Given the description of an element on the screen output the (x, y) to click on. 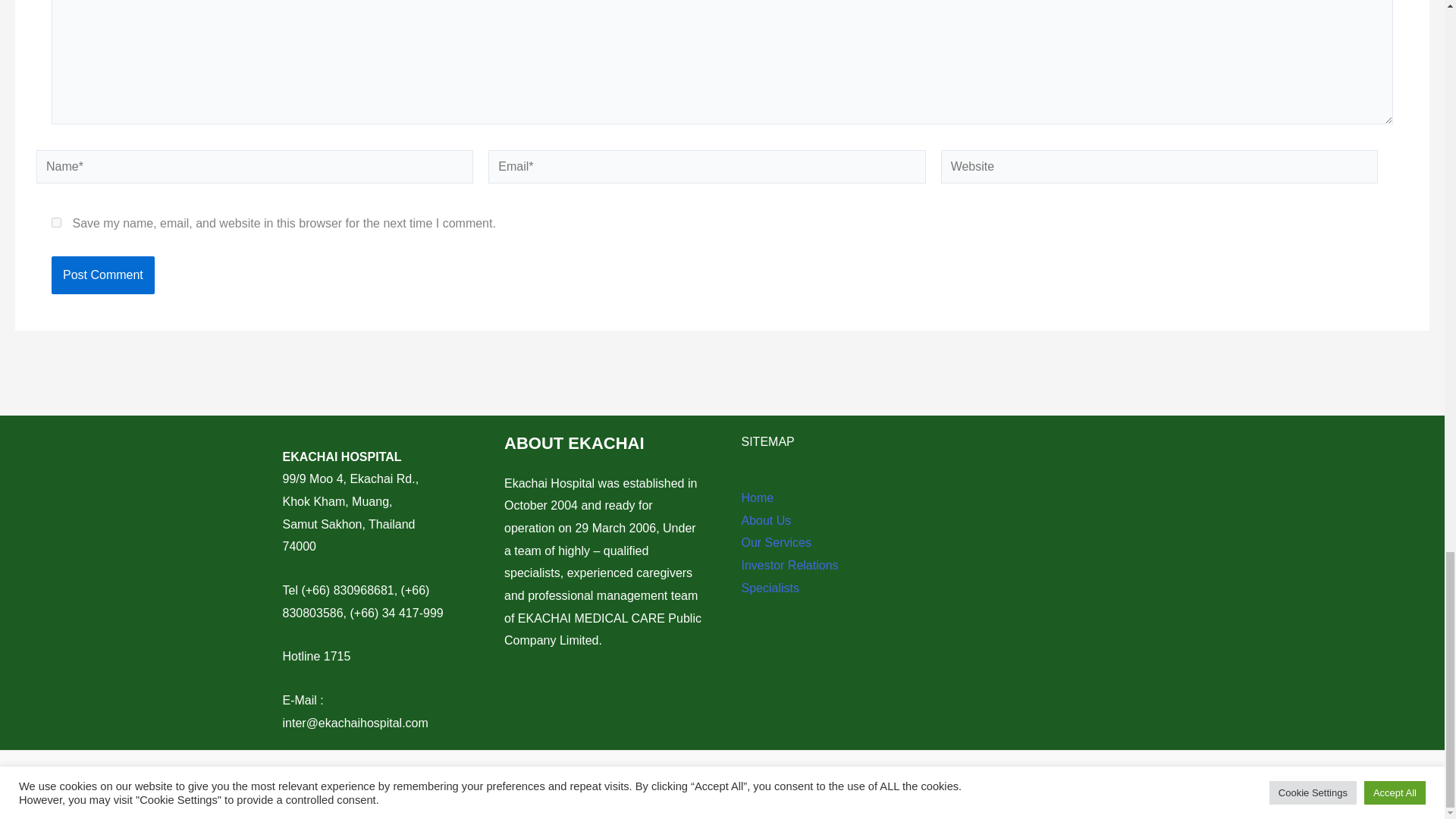
Post Comment (102, 275)
Post Comment (102, 275)
yes (55, 222)
